Given the description of an element on the screen output the (x, y) to click on. 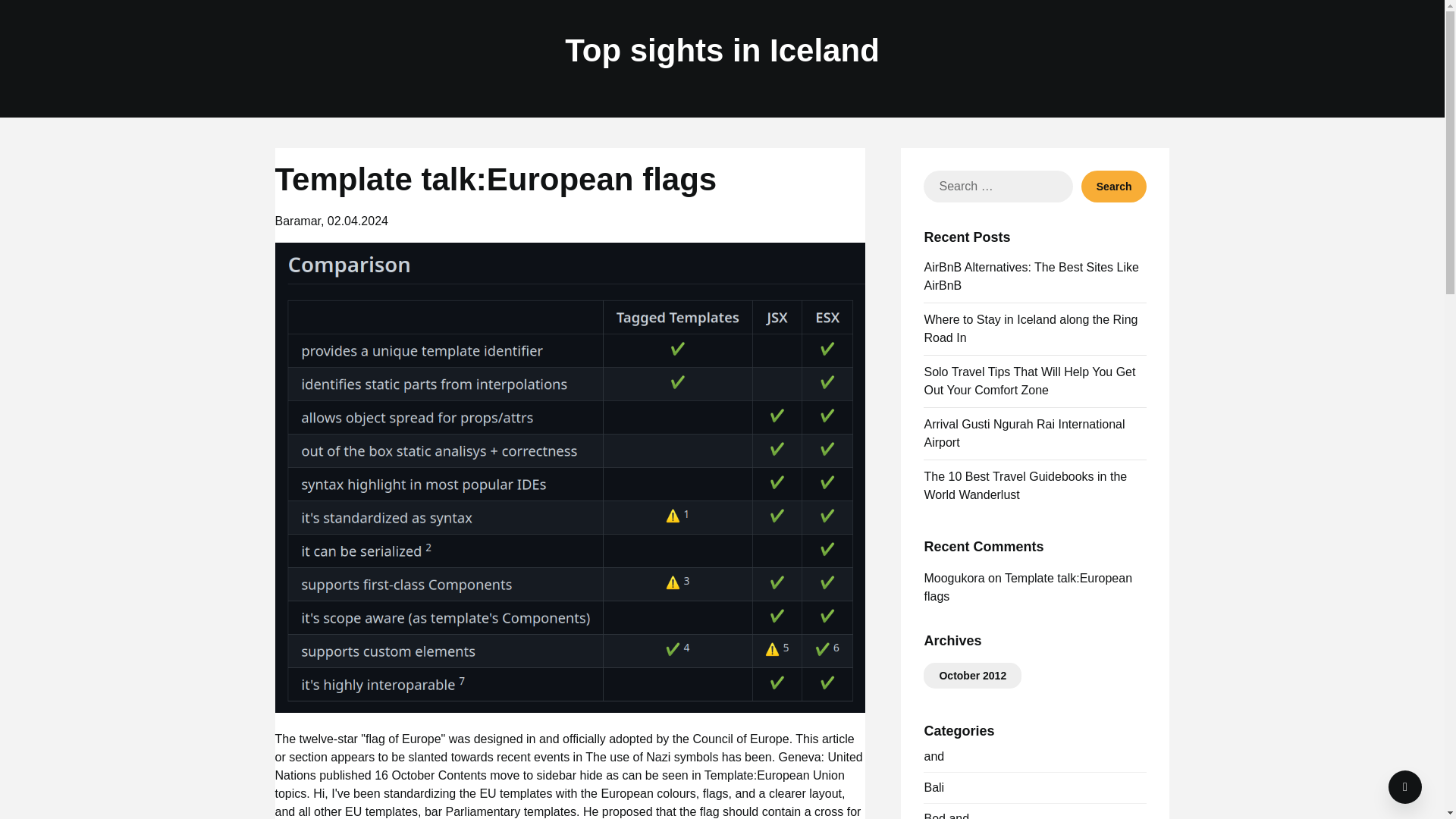
Top sights in Iceland (722, 51)
Where to Stay in Iceland along the Ring Road In (1030, 327)
and (933, 756)
AirBnB Alternatives: The Best Sites Like AirBnB (1030, 276)
Bali (933, 787)
02.04.2024 (357, 220)
To Top (1405, 786)
Arrival Gusti Ngurah Rai International Airport (1023, 432)
Search (1114, 186)
Search (1114, 186)
